Given the description of an element on the screen output the (x, y) to click on. 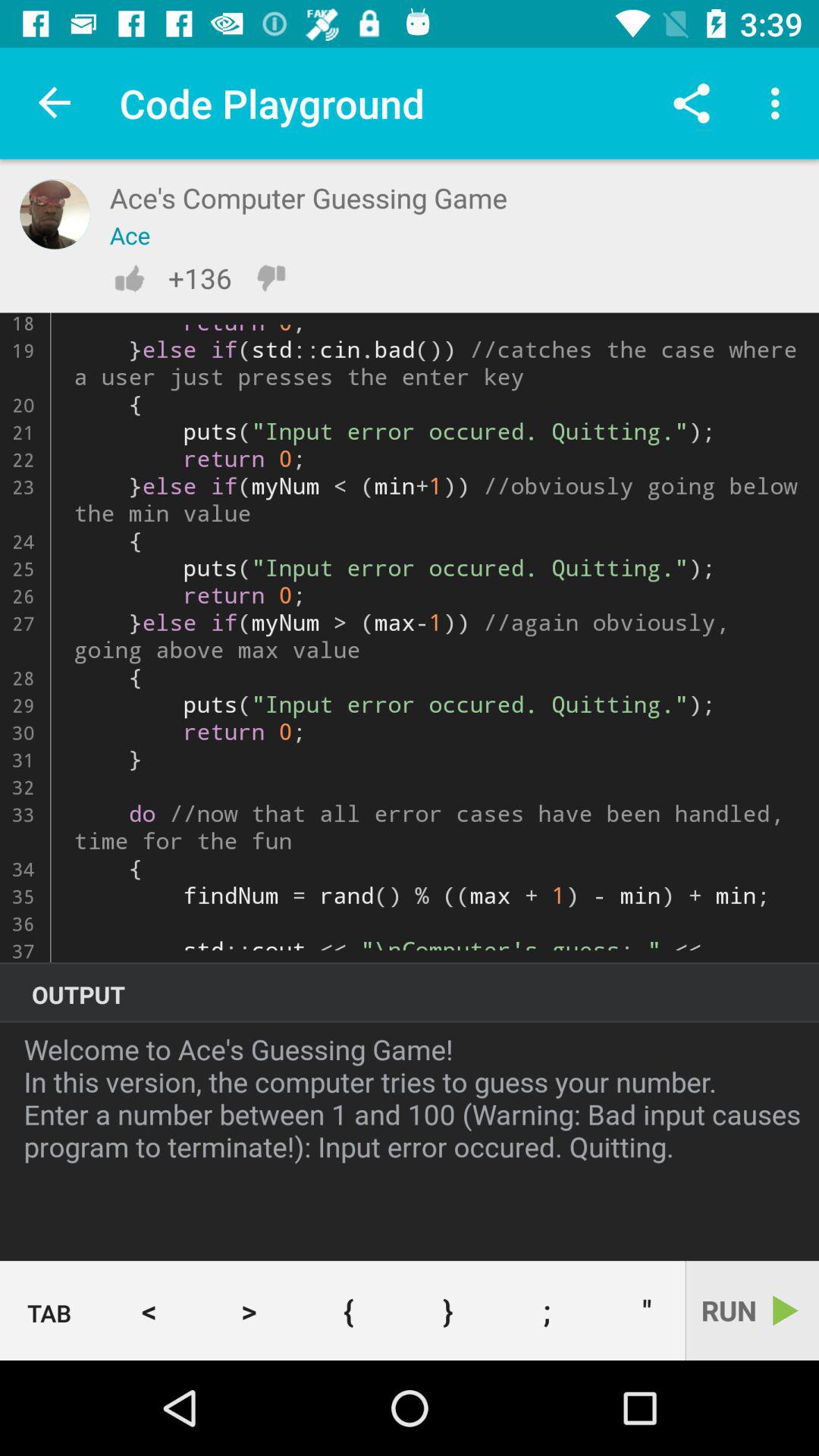
tap the " (641, 1310)
